Given the description of an element on the screen output the (x, y) to click on. 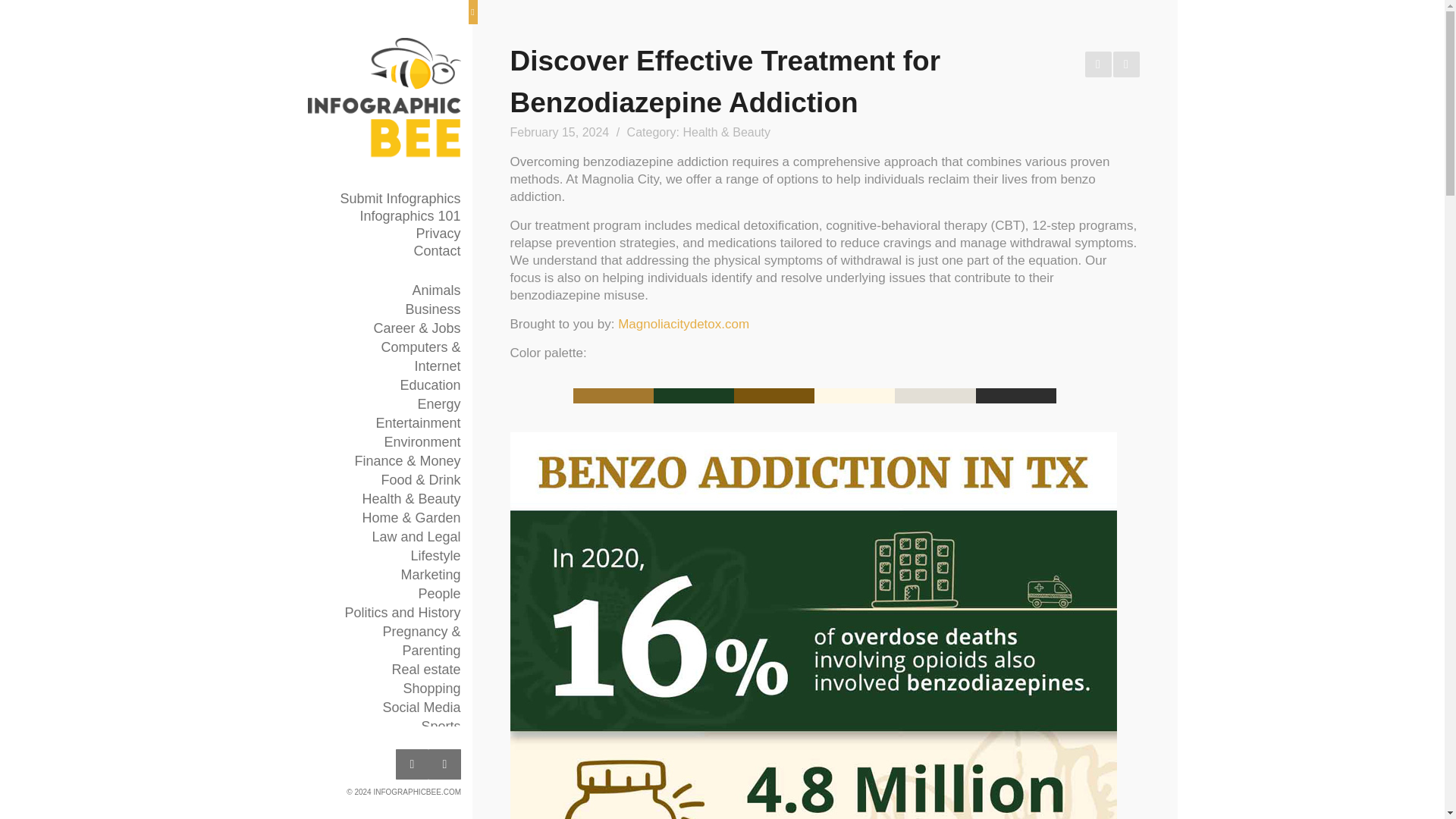
Real estate (425, 669)
Animals (436, 290)
Lifestyle (435, 556)
InfographicBee.com (384, 98)
Social Media (420, 707)
Privacy (397, 233)
Law and Legal (415, 537)
People (438, 593)
An Infographic With Motivational Quotes (1126, 63)
Politics and History (401, 612)
Contact (397, 251)
Sports (440, 726)
Energy (438, 404)
Entertainment (417, 423)
Shopping (431, 688)
